Given the description of an element on the screen output the (x, y) to click on. 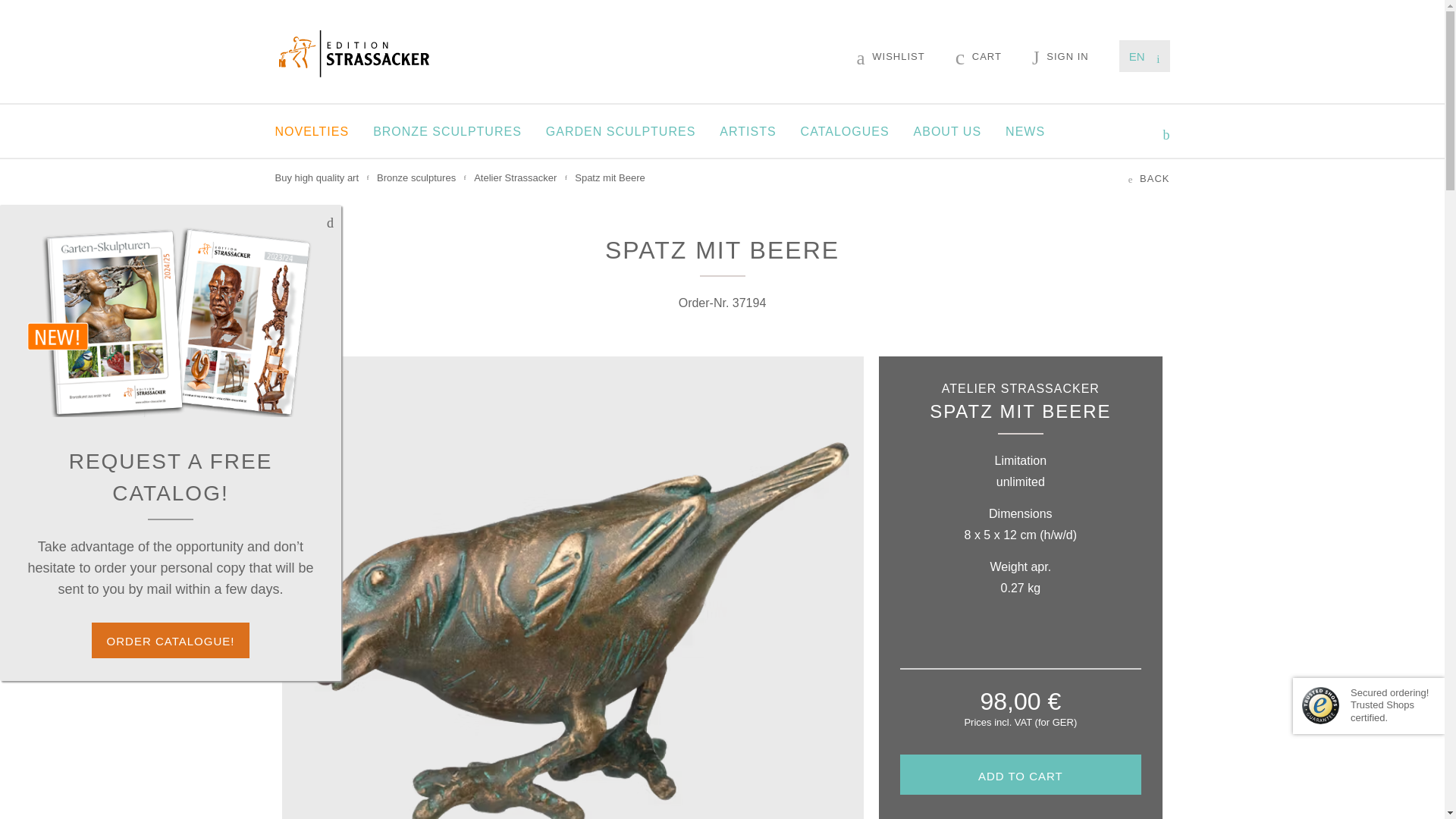
WISHLIST (890, 56)
CART (978, 56)
BRONZE SCULPTURES (446, 131)
ORDER CATALOGUE! (170, 640)
NOVELTIES (312, 131)
GARDEN SCULPTURES (620, 131)
SIGN IN (1060, 56)
ORDER CATALOGUE! (170, 640)
